Given the description of an element on the screen output the (x, y) to click on. 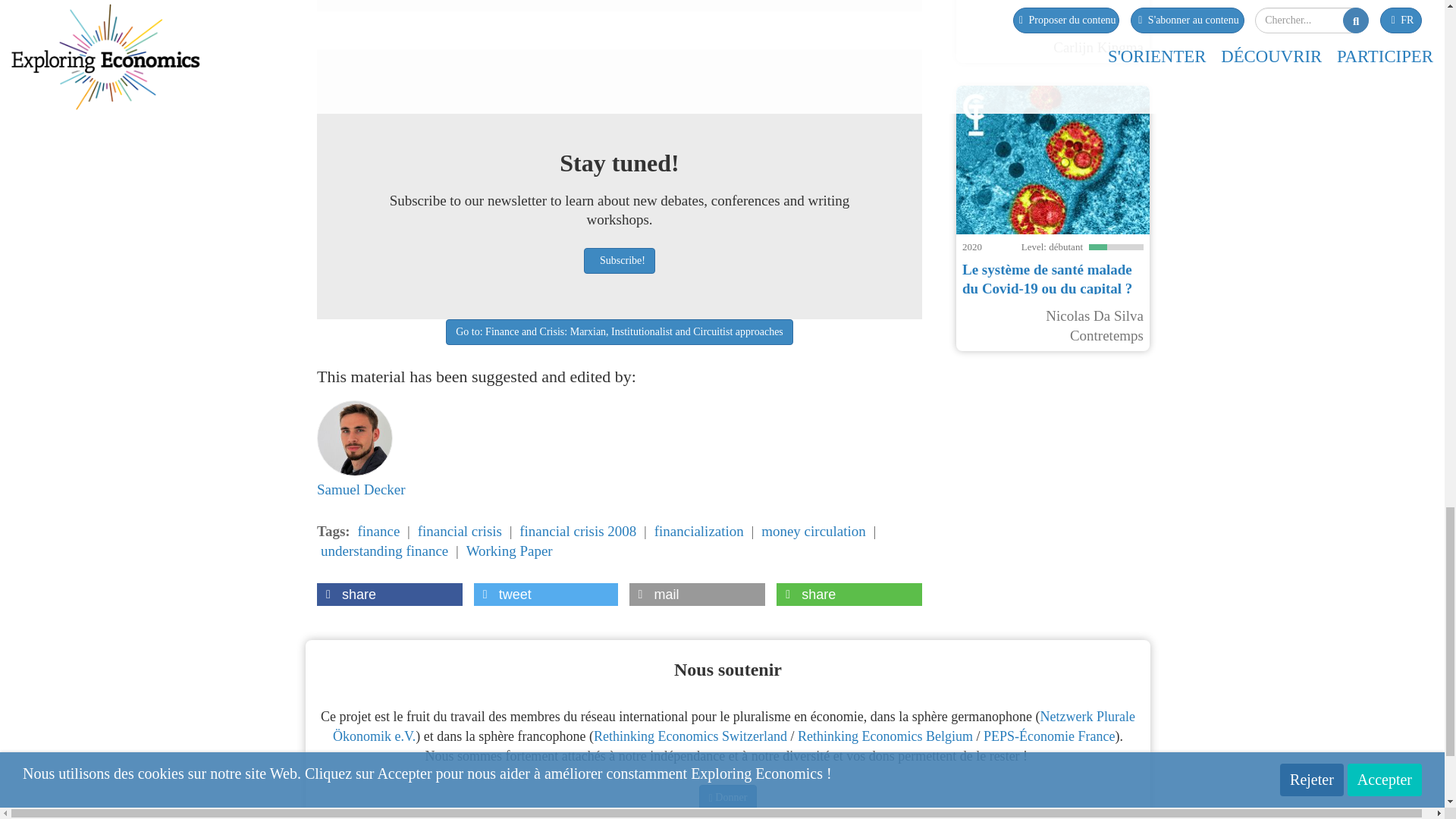
Subscribe! (619, 260)
Share on Facebook (390, 594)
Share on Whatsapp (848, 594)
finance (377, 530)
Share on Twitter (545, 594)
financial crisis (459, 530)
Send by email (696, 594)
